Given the description of an element on the screen output the (x, y) to click on. 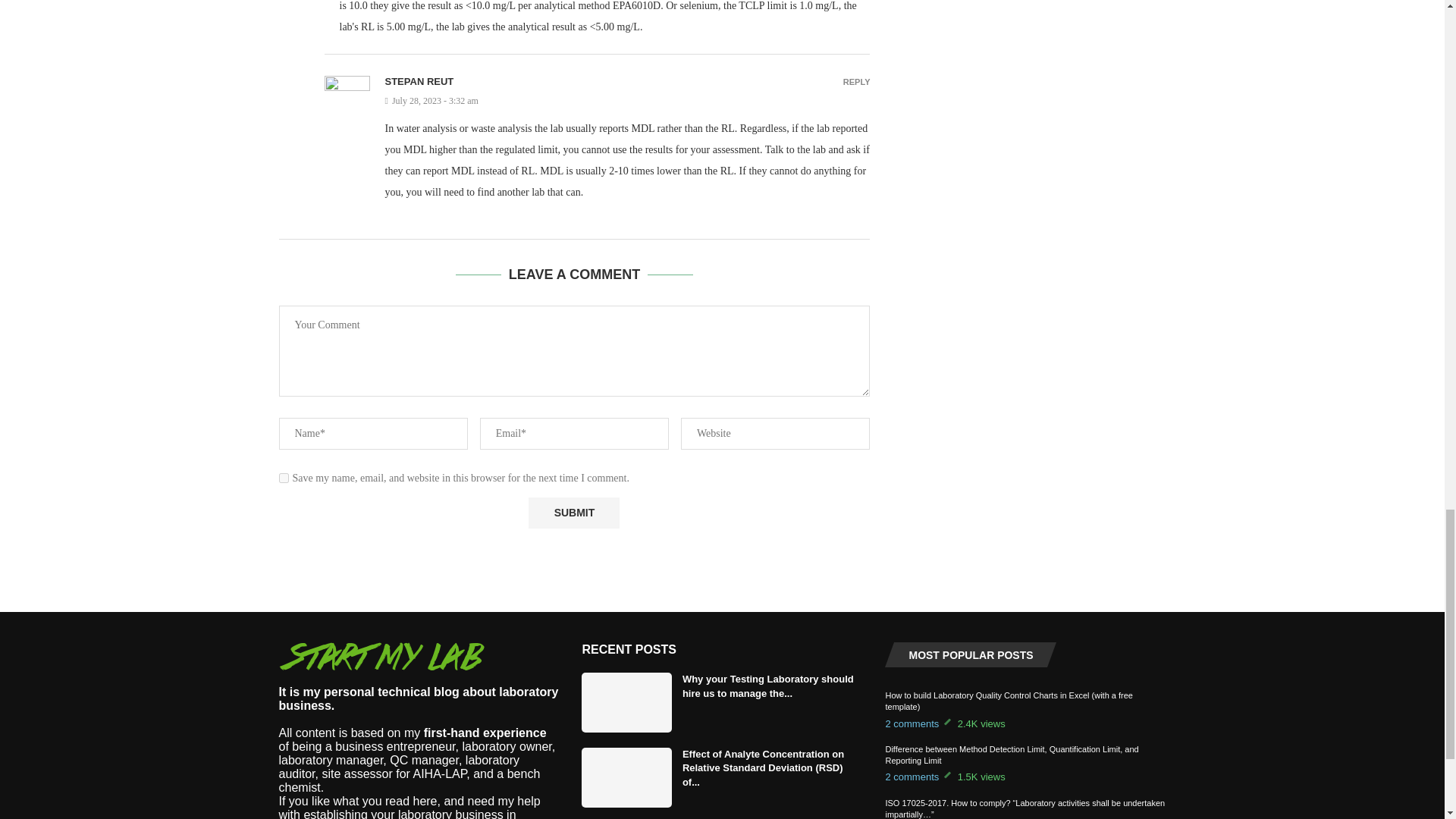
yes (283, 478)
Submit (574, 512)
Friday, July 28, 2023, 3:32 am (627, 101)
